Given the description of an element on the screen output the (x, y) to click on. 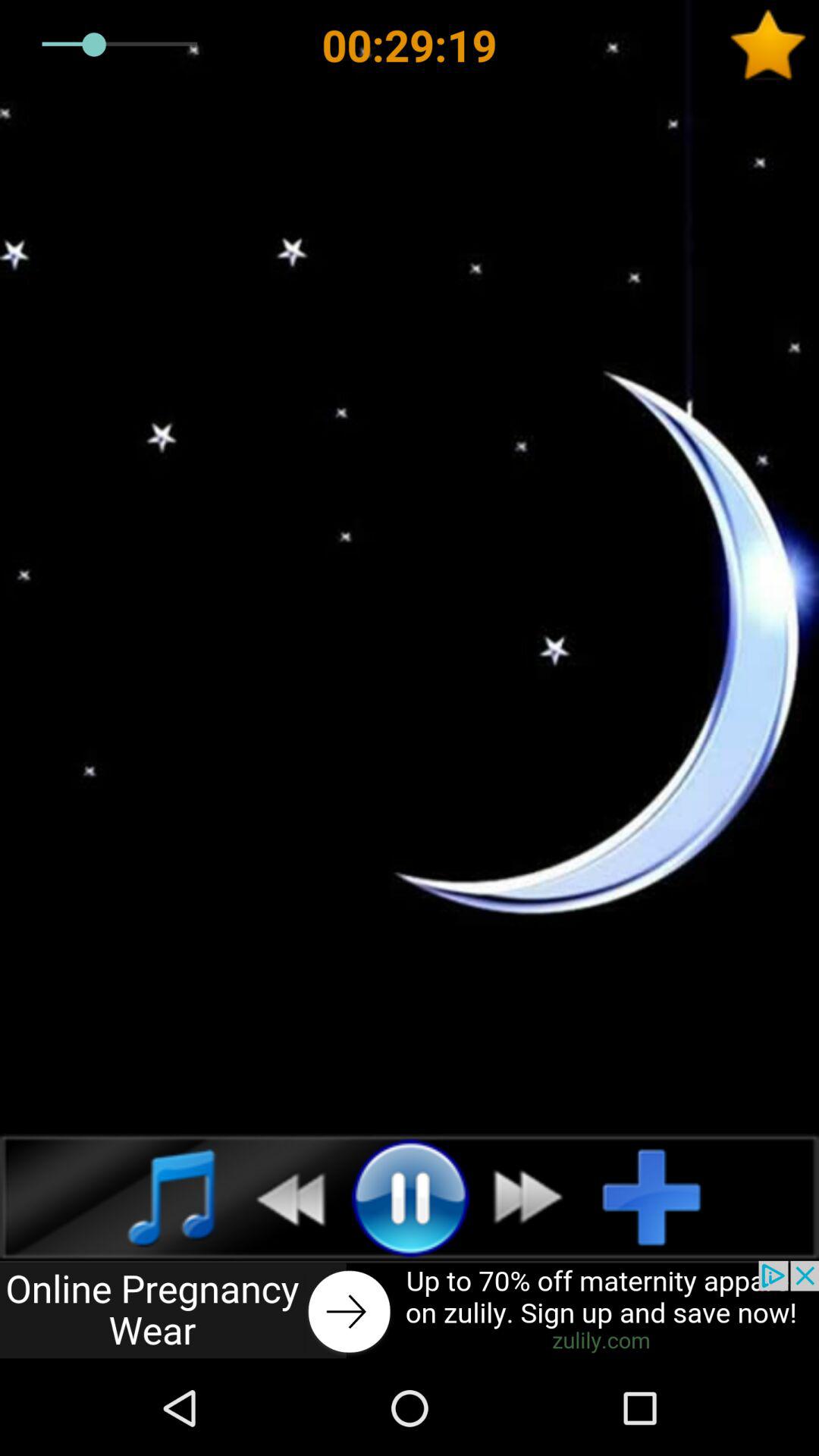
click on the advertised site (409, 1310)
